Given the description of an element on the screen output the (x, y) to click on. 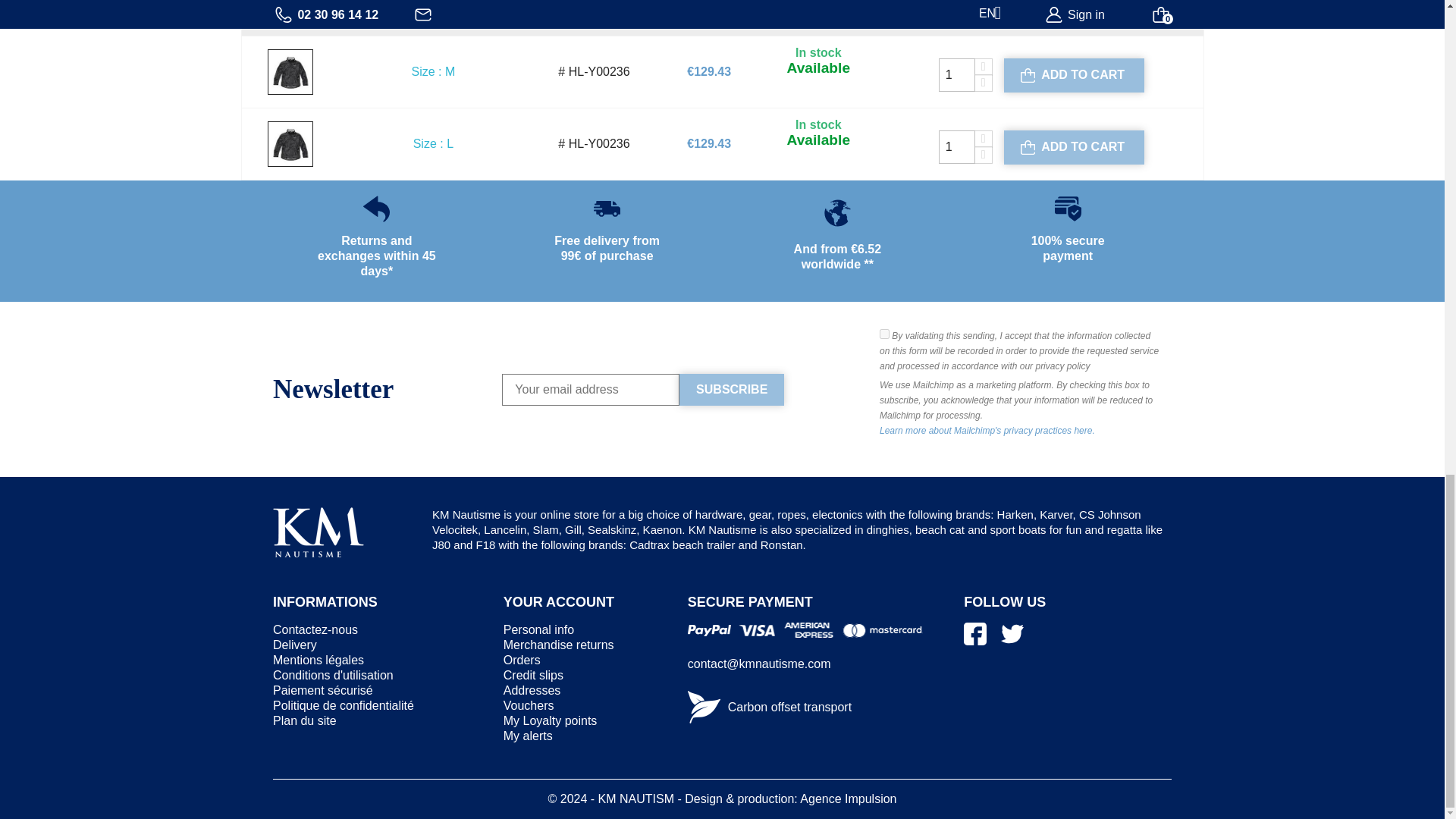
Subscribe (731, 388)
1 (957, 146)
Y (884, 334)
1 (957, 74)
